Given the description of an element on the screen output the (x, y) to click on. 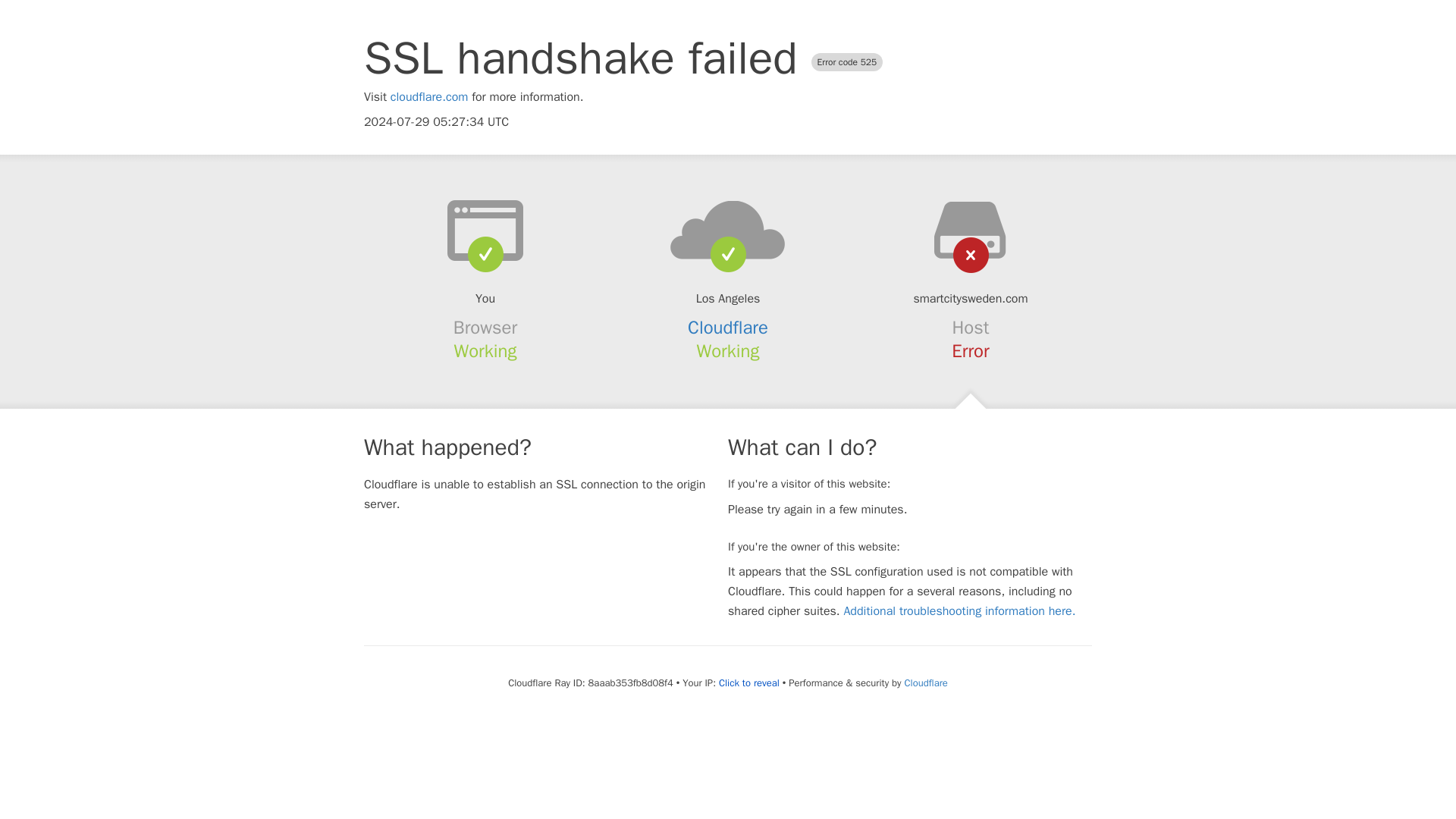
Click to reveal (748, 683)
cloudflare.com (429, 96)
Cloudflare (727, 327)
Cloudflare (925, 682)
Additional troubleshooting information here. (959, 611)
